Given the description of an element on the screen output the (x, y) to click on. 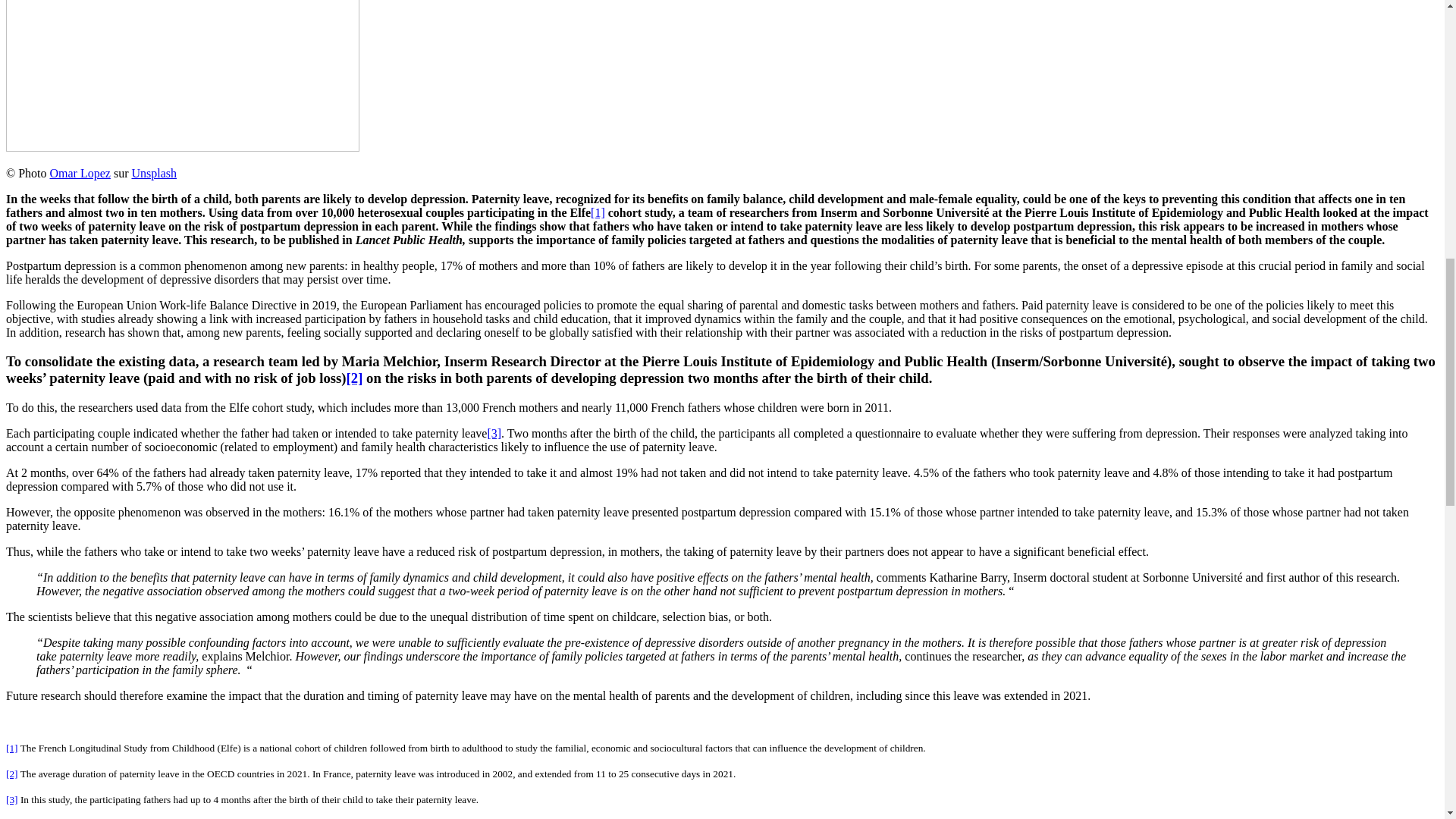
Omar Lopez (79, 173)
Unsplash (153, 173)
